Given the description of an element on the screen output the (x, y) to click on. 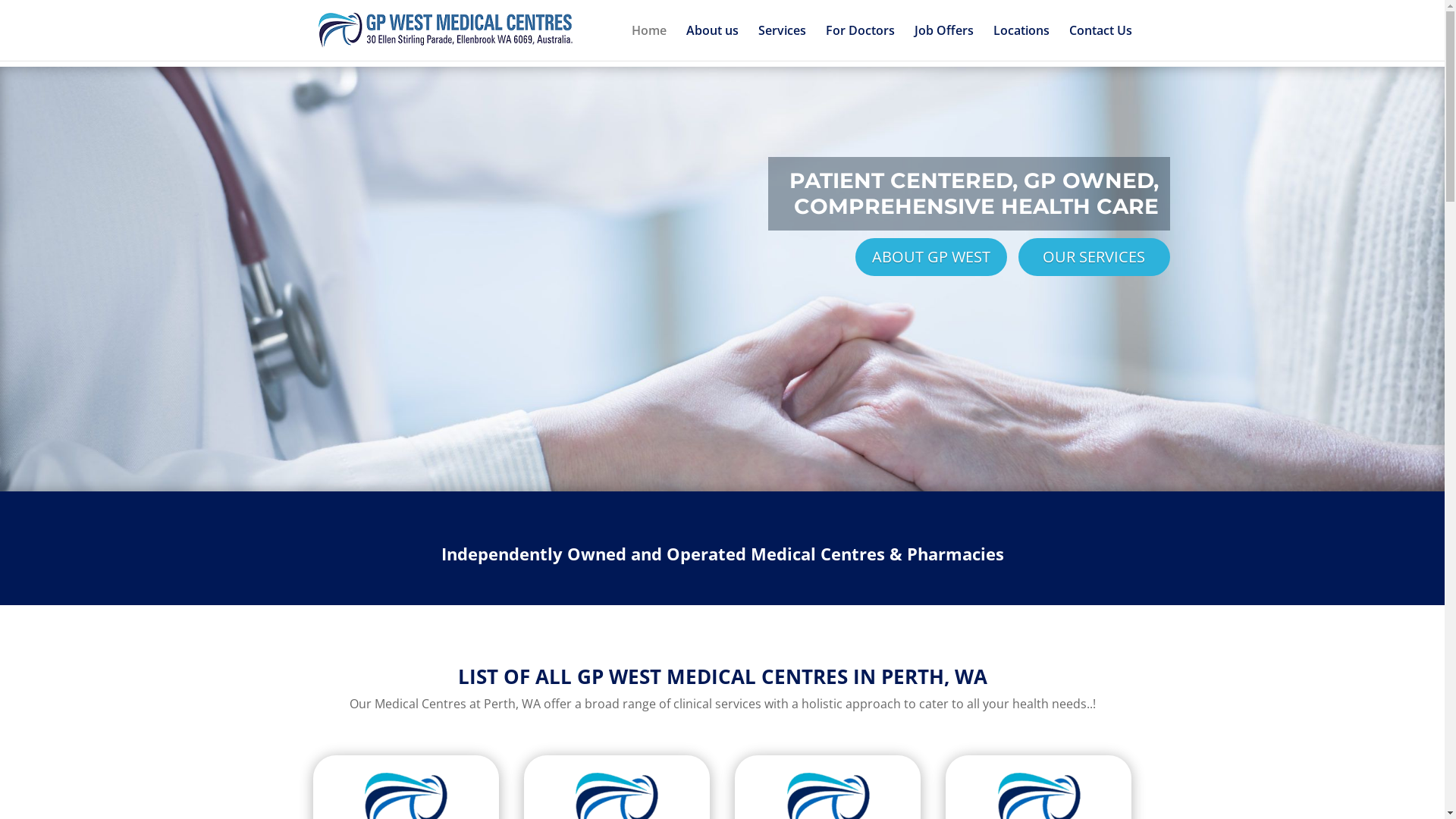
Job Offers Element type: text (943, 42)
Home Element type: text (647, 42)
ABOUT GP WEST Element type: text (931, 257)
Contact Us Element type: text (1100, 42)
OUR SERVICES Element type: text (1093, 257)
About us Element type: text (711, 42)
For Doctors Element type: text (859, 42)
Services Element type: text (782, 42)
Locations Element type: text (1021, 42)
